Given the description of an element on the screen output the (x, y) to click on. 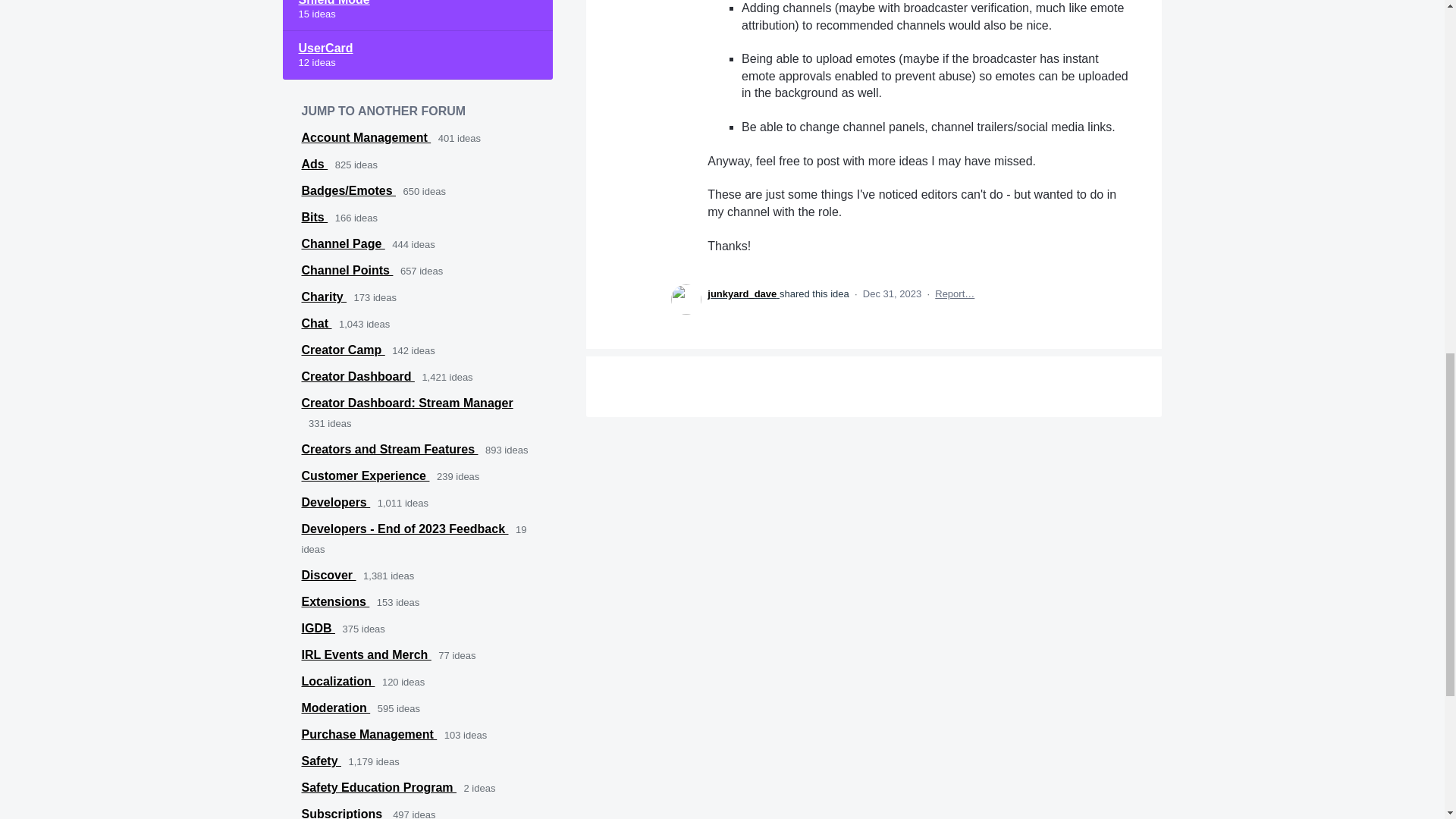
Shield Mode (417, 15)
Developers - End of 2023 Feedback (404, 528)
View all ideas in Channel Points (347, 269)
View all ideas in Channel Page (343, 243)
View all ideas in Ads (315, 164)
Creator Camp (343, 349)
Extensions (335, 601)
Channel Page (343, 243)
Channel Points (347, 269)
UserCard (417, 55)
